Given the description of an element on the screen output the (x, y) to click on. 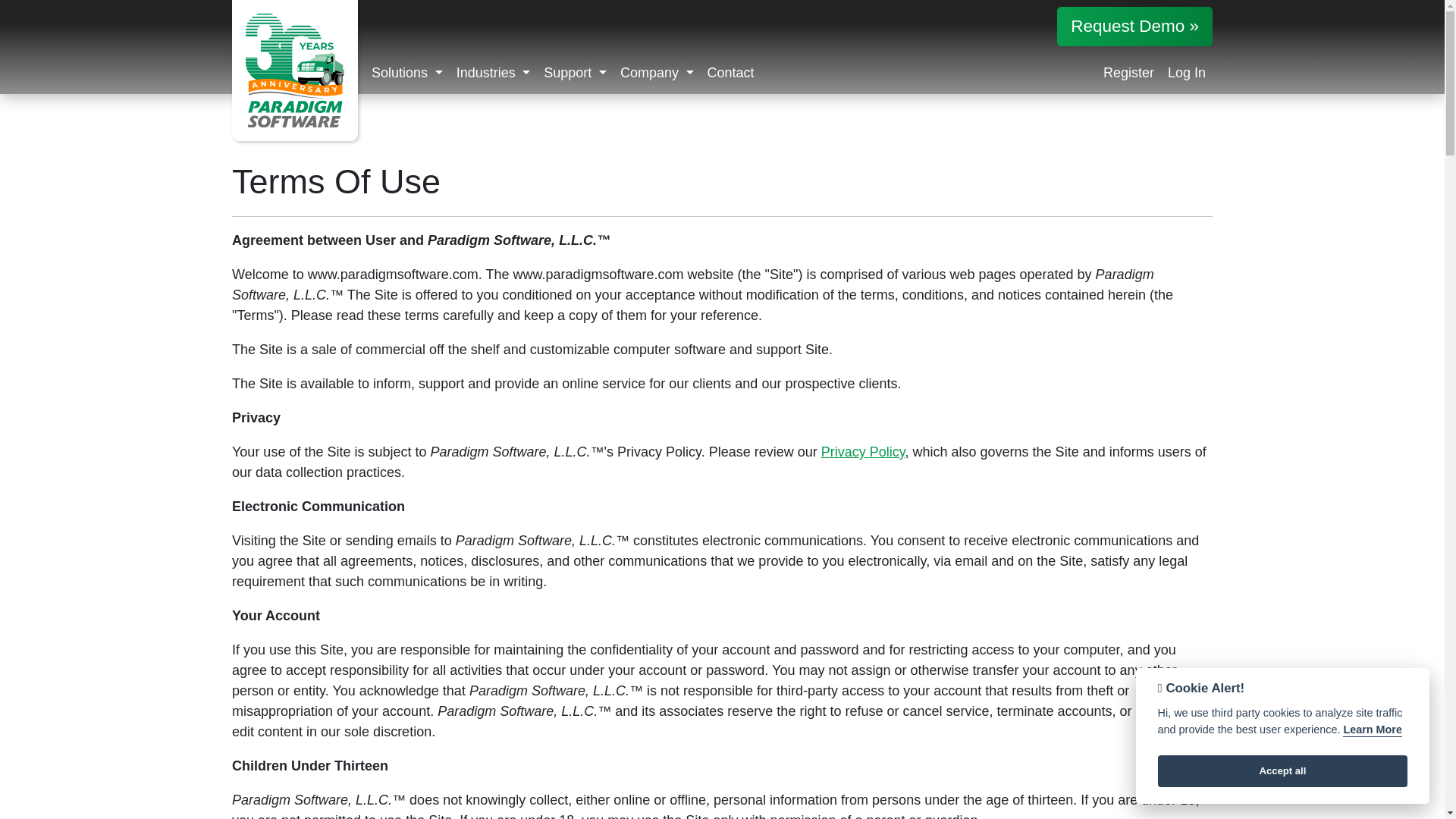
Log In (1186, 73)
Company (656, 73)
Contact (730, 73)
Industries (721, 73)
Solutions (493, 73)
Privacy Policy (407, 73)
Register (863, 451)
Support (1128, 73)
